Given the description of an element on the screen output the (x, y) to click on. 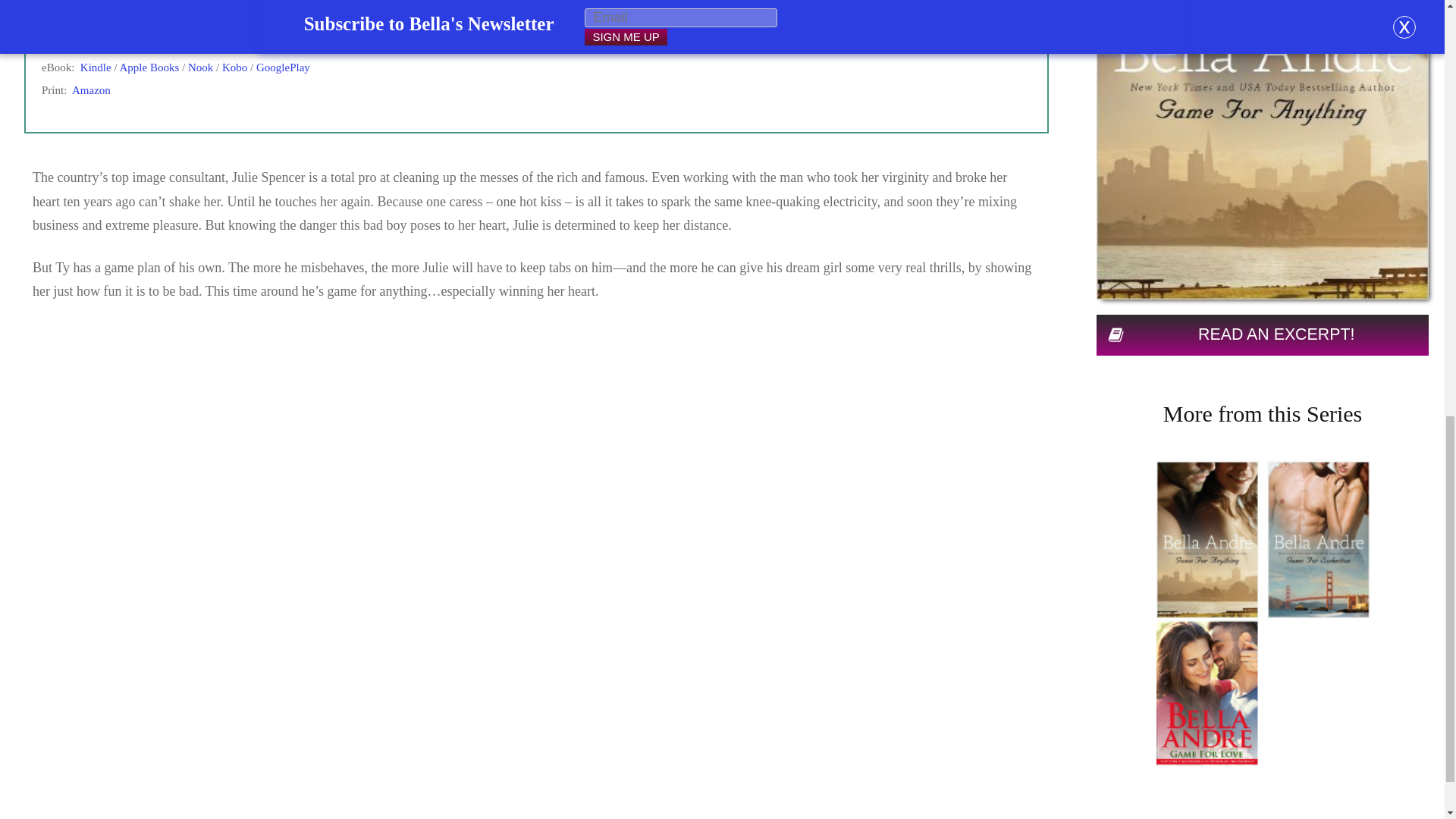
Nook (199, 67)
READ AN EXCERPT! (1262, 335)
Kobo (234, 67)
Amazon (90, 90)
GooglePlay (283, 67)
Apple Books (149, 67)
Kindle (96, 67)
